Given the description of an element on the screen output the (x, y) to click on. 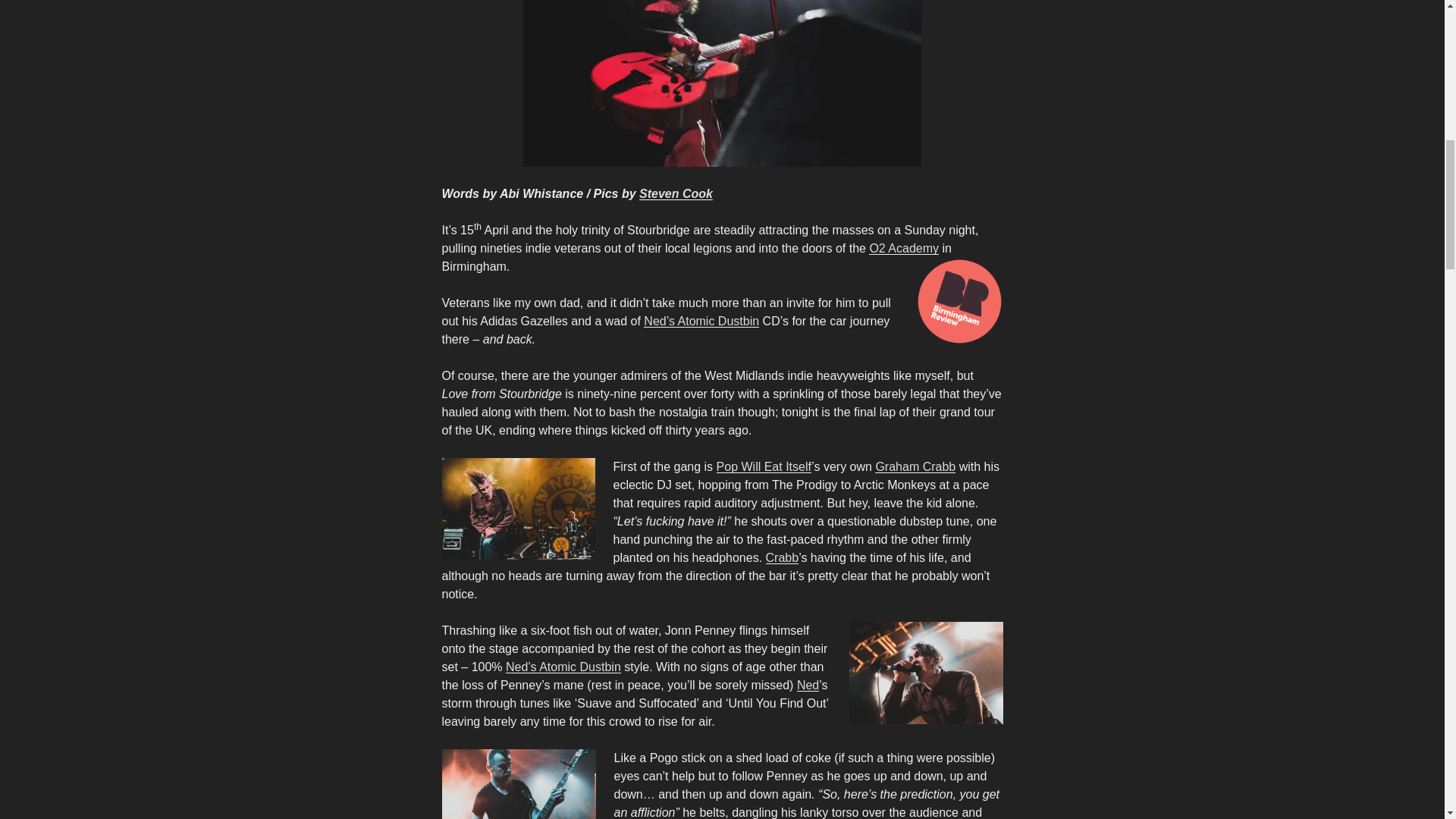
O2 Academy (904, 247)
Crabb (782, 557)
Steven Cook (676, 193)
Pop Will Eat Itself (764, 466)
Ned (807, 684)
Graham Crabb (915, 466)
